Given the description of an element on the screen output the (x, y) to click on. 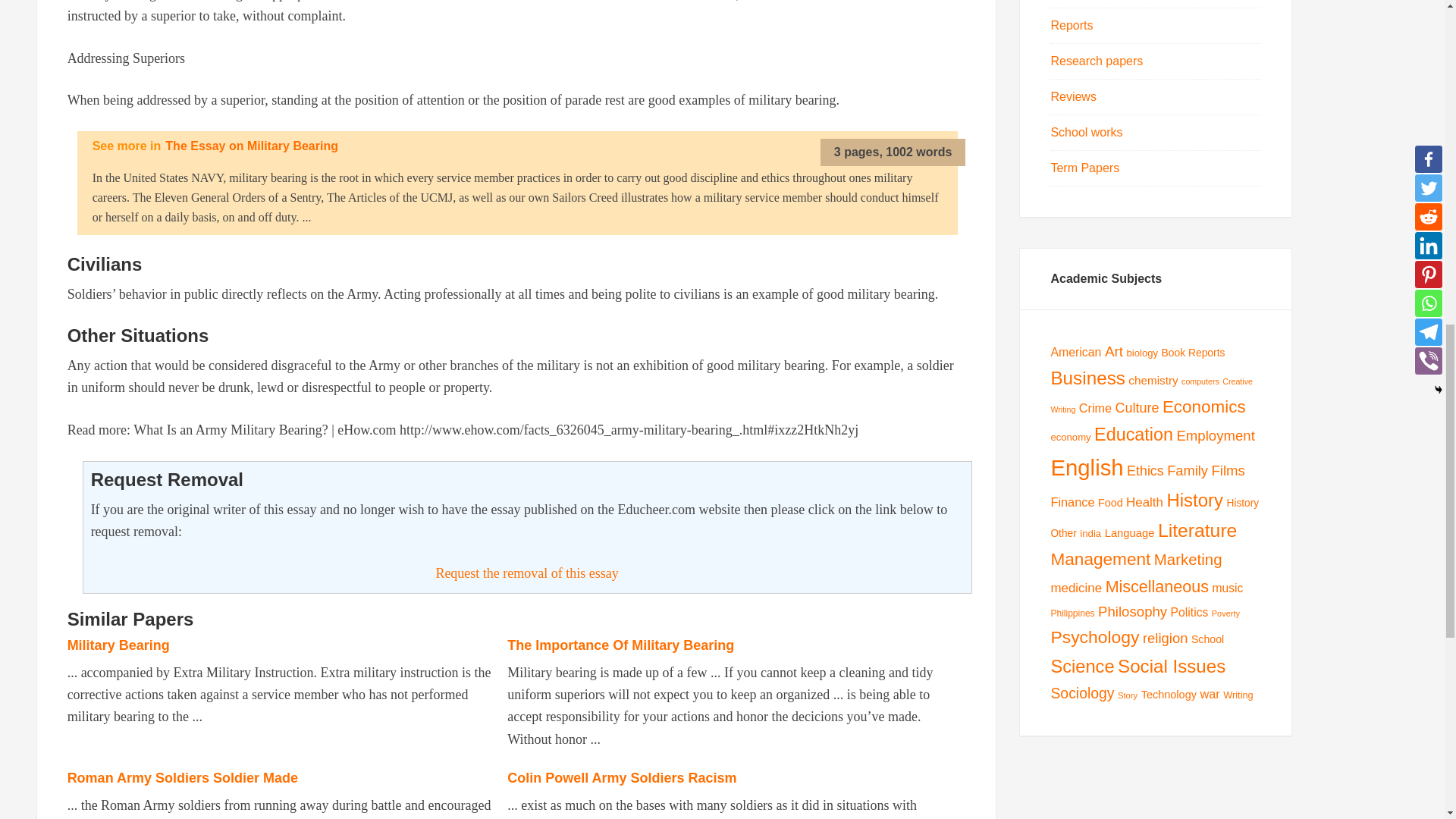
Colin Powell Army Soldiers Racism (621, 777)
Term Papers (1084, 167)
Roman Army Soldiers Soldier Made (182, 777)
Reviews (1072, 96)
Military Bearing (118, 645)
Research papers (1095, 60)
School works (1085, 132)
The Essay on Military Bearing (251, 145)
The Importance Of Military Bearing (619, 645)
Reports (1071, 24)
Request the removal of this essay (526, 572)
